Given the description of an element on the screen output the (x, y) to click on. 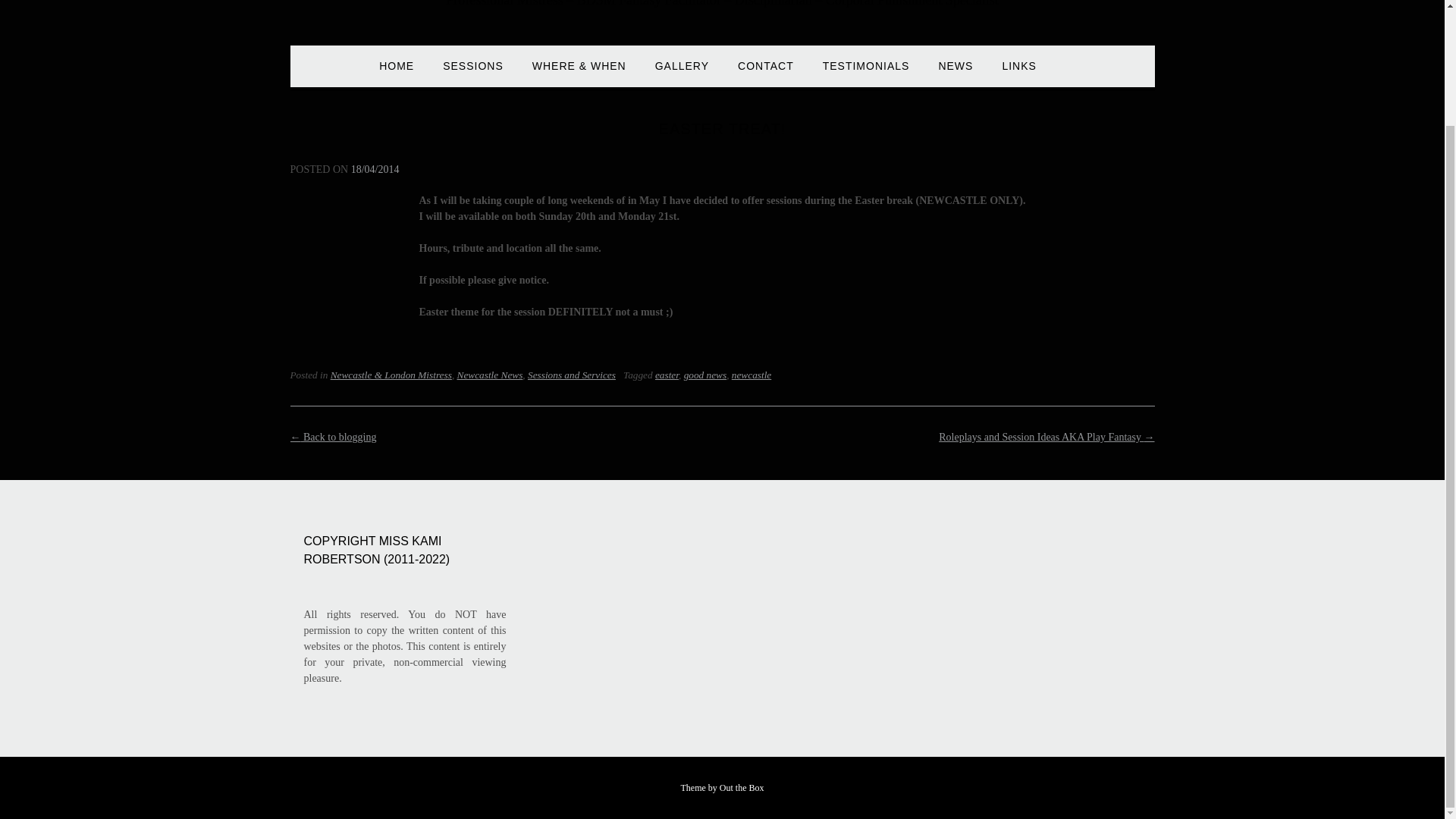
LINKS (1018, 72)
NEWS (954, 72)
easter (666, 374)
CONTACT (765, 72)
GALLERY (682, 72)
HOME (395, 72)
TESTIMONIALS (866, 72)
good news (705, 374)
Newcastle News (489, 374)
Out the Box (741, 787)
